Given the description of an element on the screen output the (x, y) to click on. 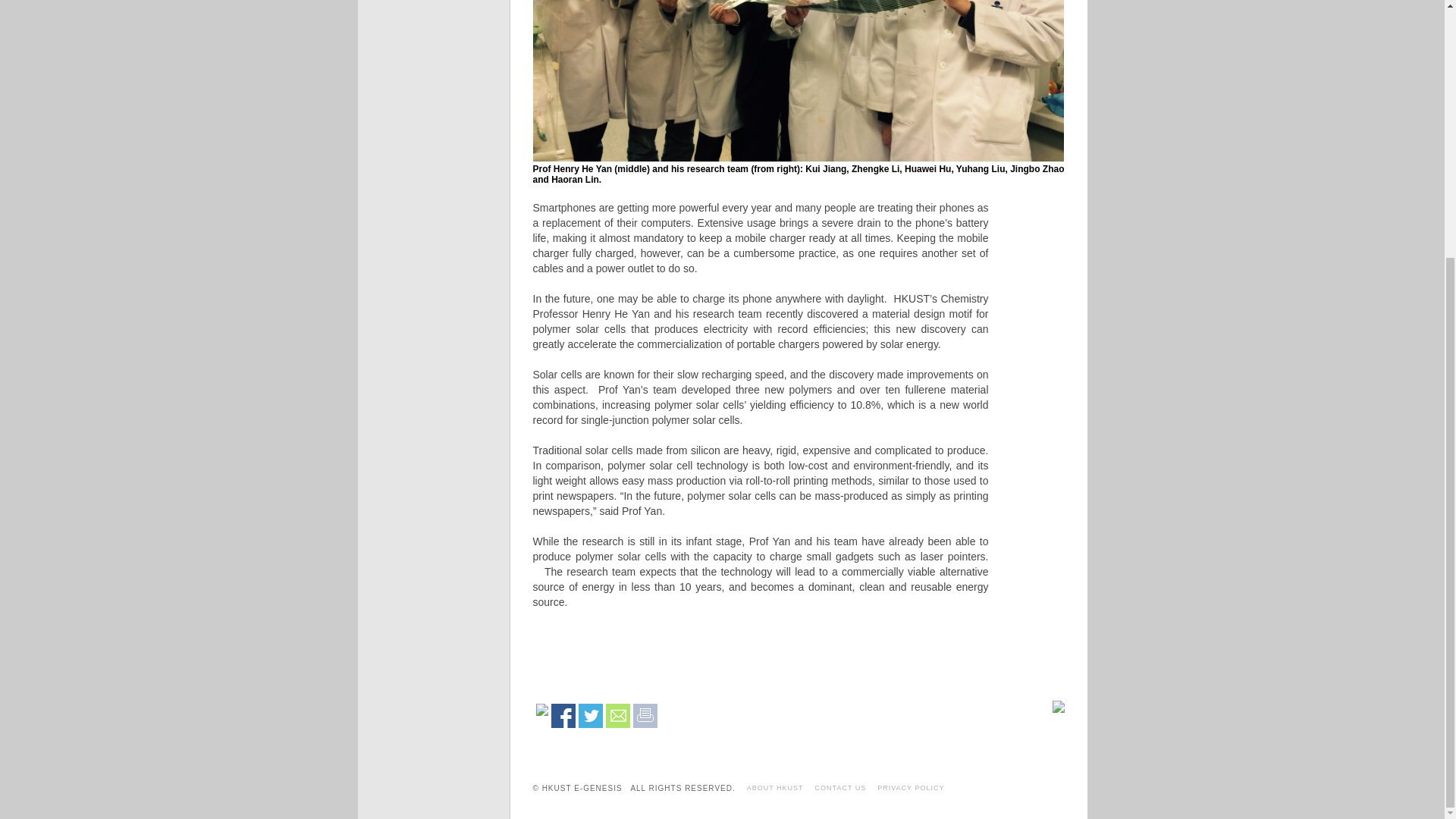
PRIVACY POLICY (910, 787)
ABOUT HKUST (774, 787)
CONTACT US (840, 787)
